Given the description of an element on the screen output the (x, y) to click on. 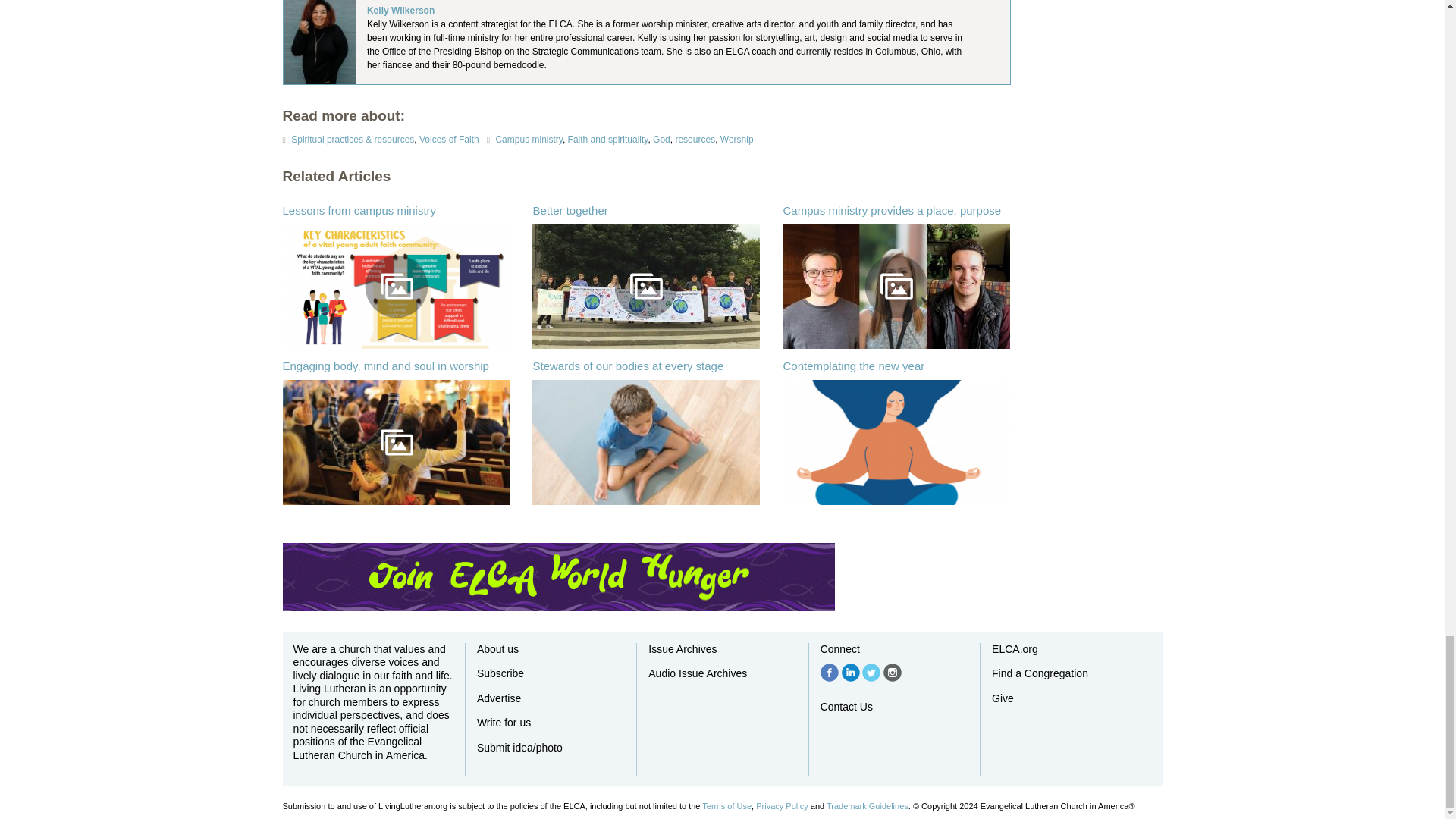
Lessons from campus ministry (358, 210)
View all posts with tag resources (694, 139)
Campus ministry provides a place, purpose (896, 286)
Better together (569, 210)
View all posts with tag Campus ministry (528, 139)
Lessons from campus ministry (395, 286)
View all posts with tag Faith and spirituality (607, 139)
Better together (646, 286)
Engaging body, mind and soul in worship (395, 442)
Engaging body, mind and soul in worship (384, 365)
